Given the description of an element on the screen output the (x, y) to click on. 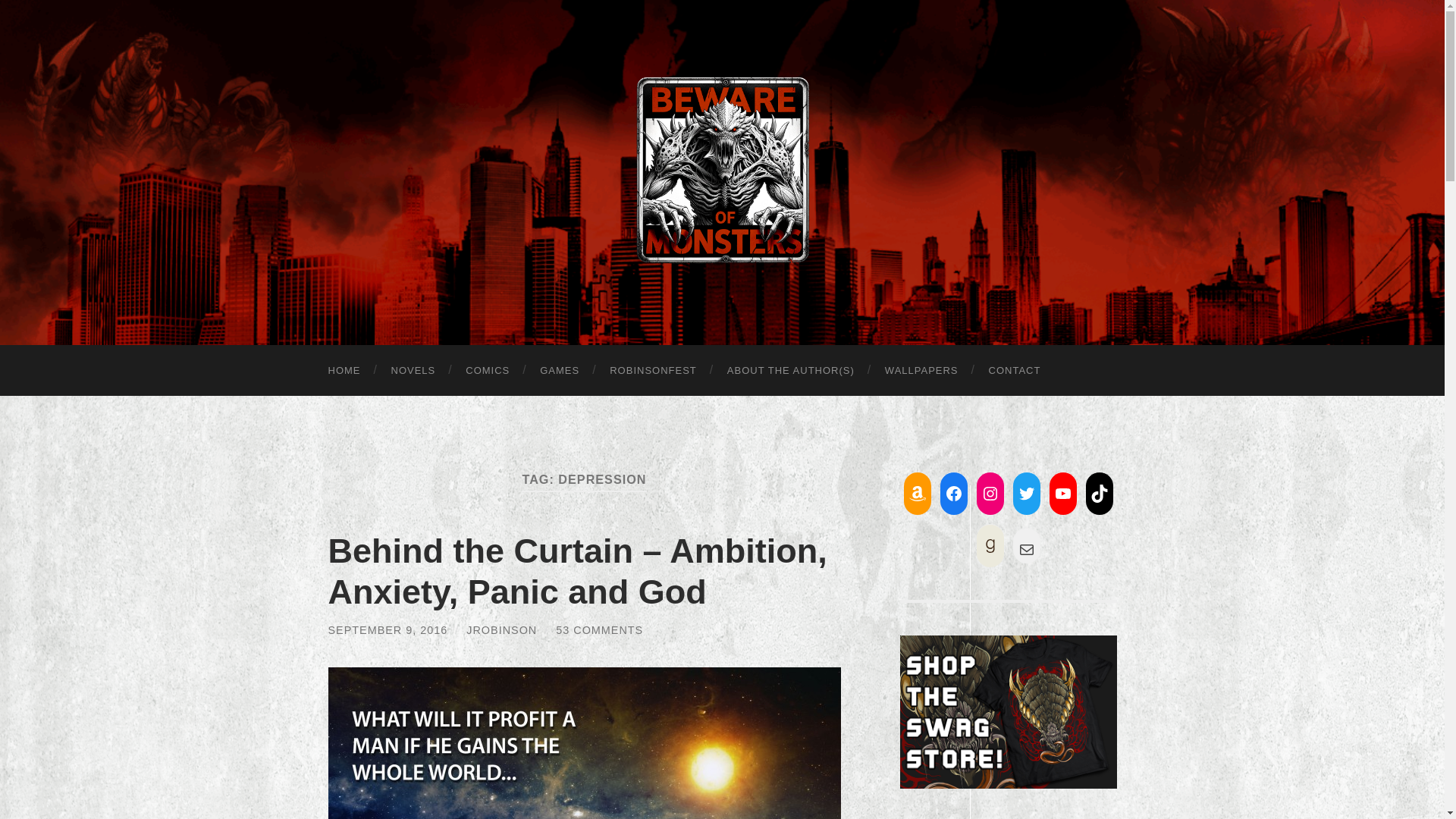
Beware of Monsters (721, 170)
JROBINSON (501, 630)
HOME (344, 369)
YouTube (1063, 492)
Mail (1027, 549)
ROBINSONFEST (652, 369)
COMICS (486, 369)
Goodreads (990, 545)
SEPTEMBER 9, 2016 (386, 630)
